Given the description of an element on the screen output the (x, y) to click on. 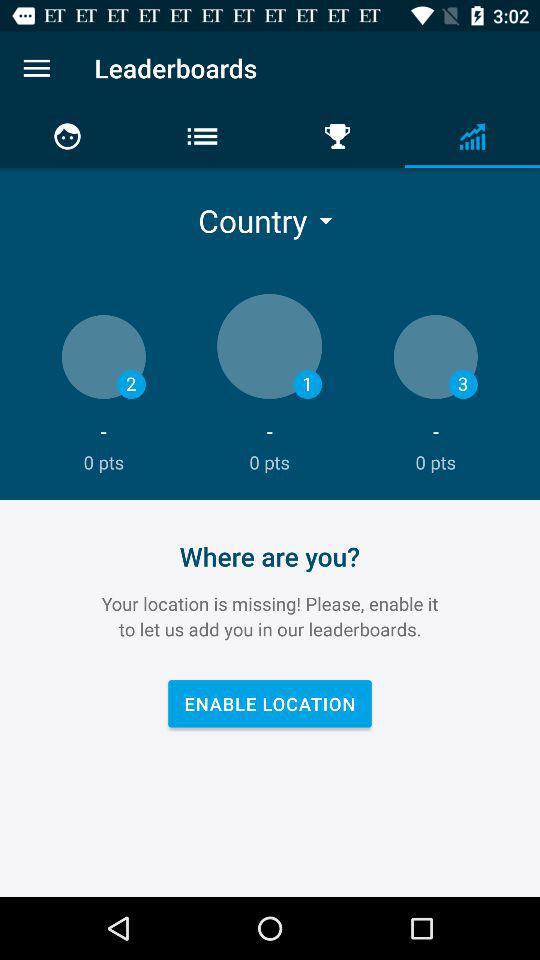
options (36, 68)
